Given the description of an element on the screen output the (x, y) to click on. 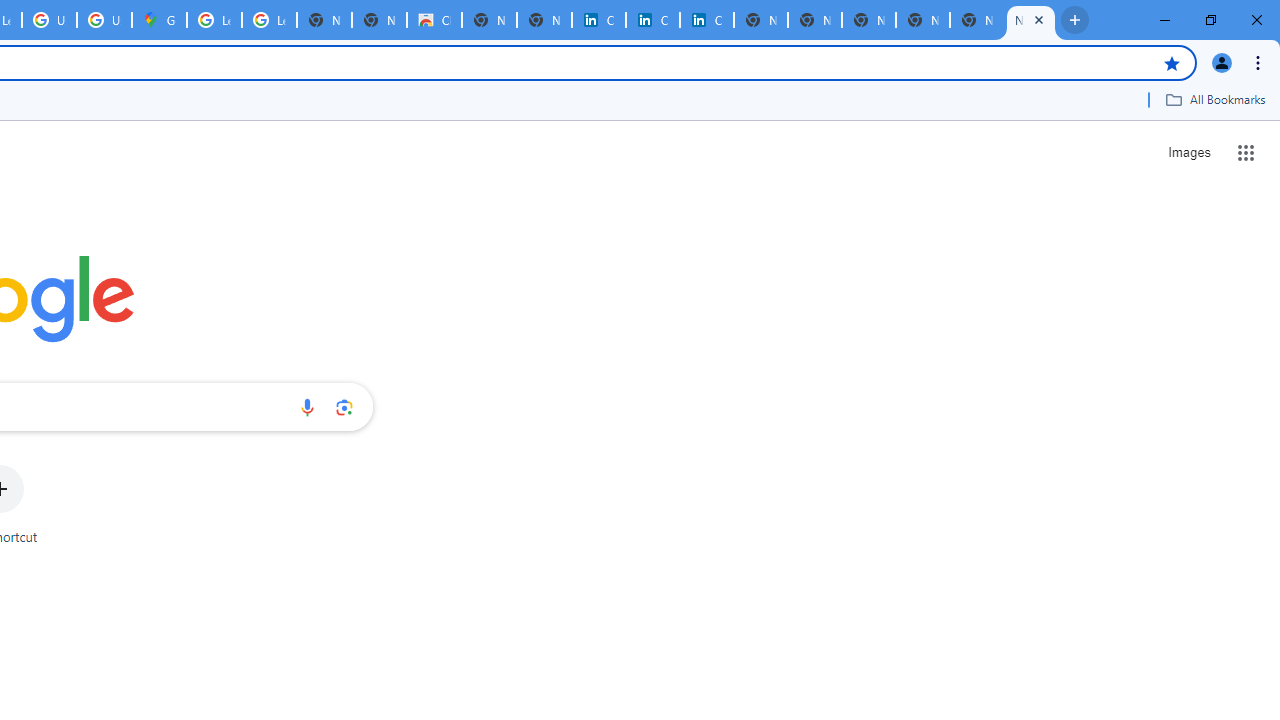
Cookie Policy | LinkedIn (652, 20)
New Tab (1030, 20)
Google Maps (158, 20)
Chrome Web Store (434, 20)
